Given the description of an element on the screen output the (x, y) to click on. 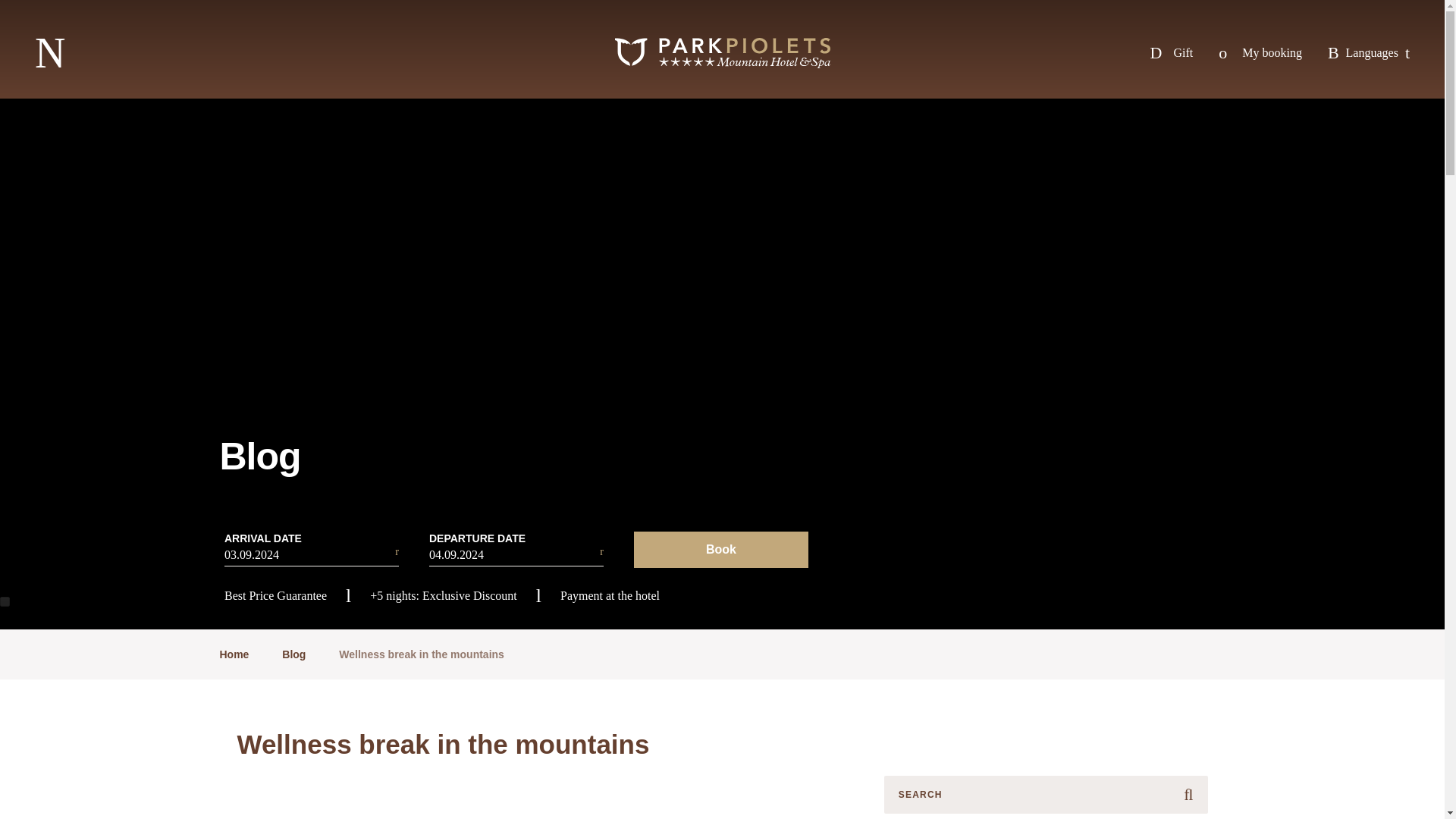
on (5, 601)
04.09.2024 (516, 555)
Gift (1171, 52)
03.09.2024 (311, 555)
